Given the description of an element on the screen output the (x, y) to click on. 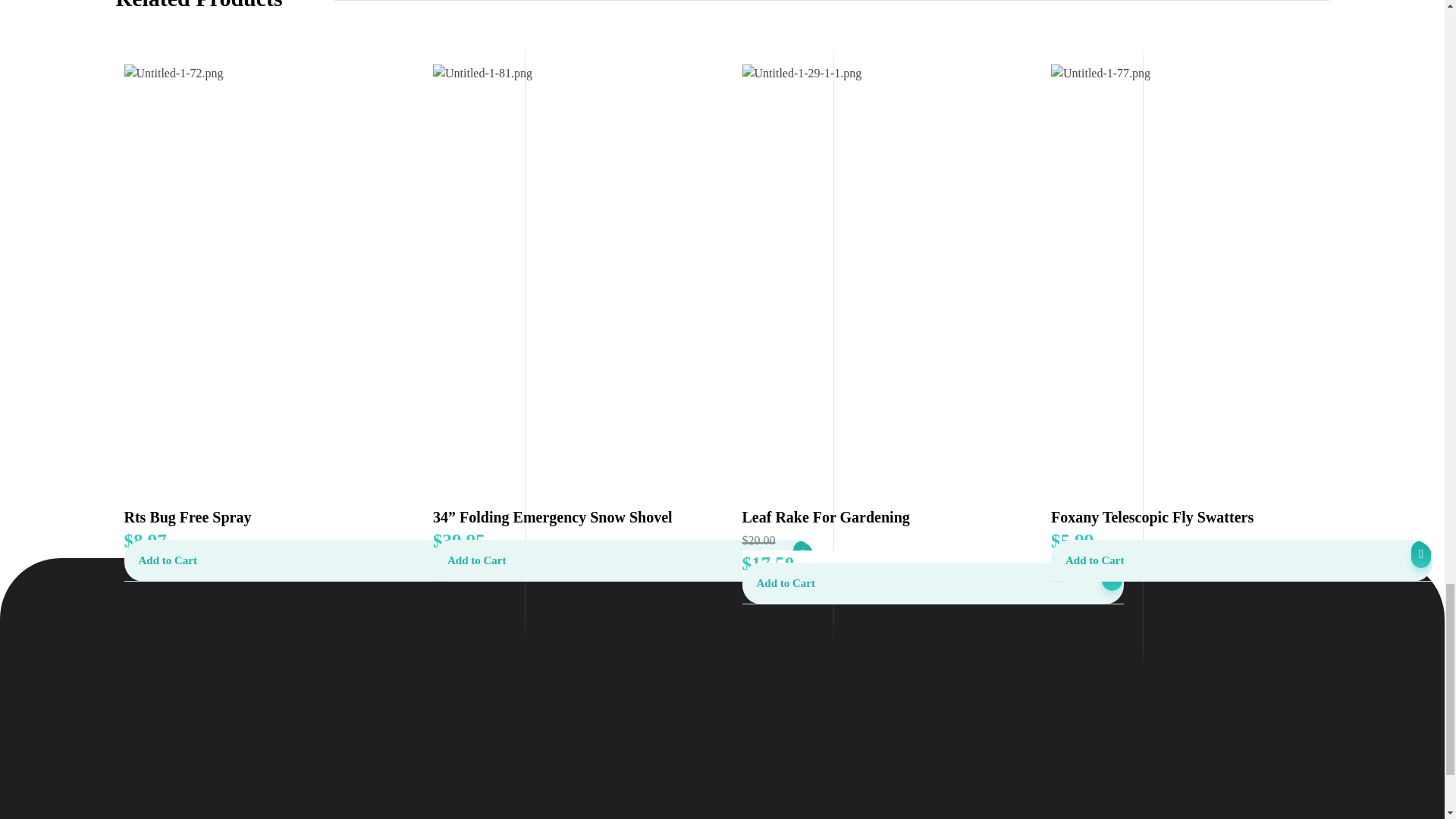
Add to Cart (622, 560)
Leaf Rake For Gardening (931, 516)
Add to Cart (314, 560)
Rts Bug Free Spray (314, 516)
